Given the description of an element on the screen output the (x, y) to click on. 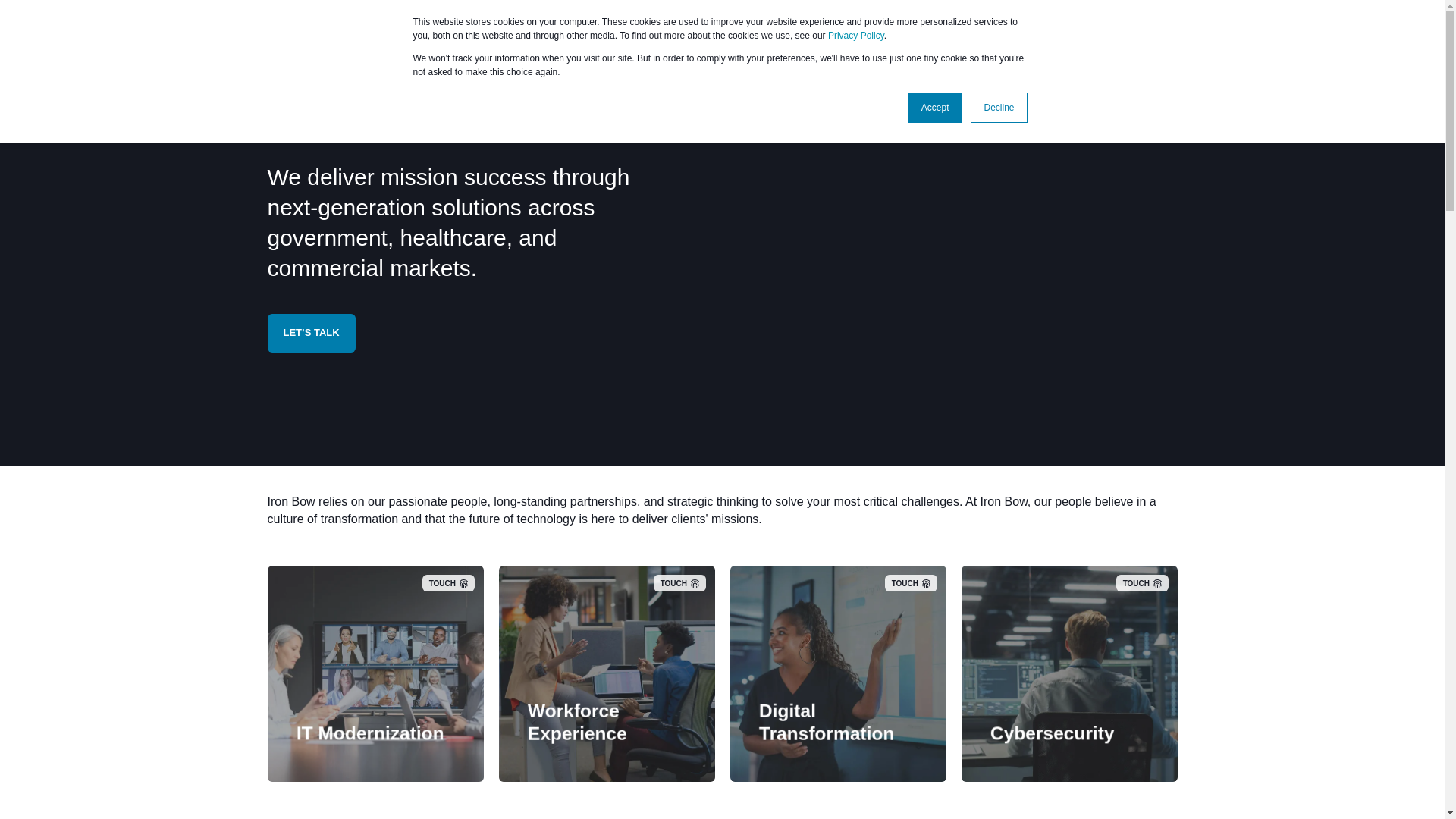
MARKETS (426, 32)
Accept (935, 107)
Decline (998, 107)
Privacy Policy (855, 35)
